Given the description of an element on the screen output the (x, y) to click on. 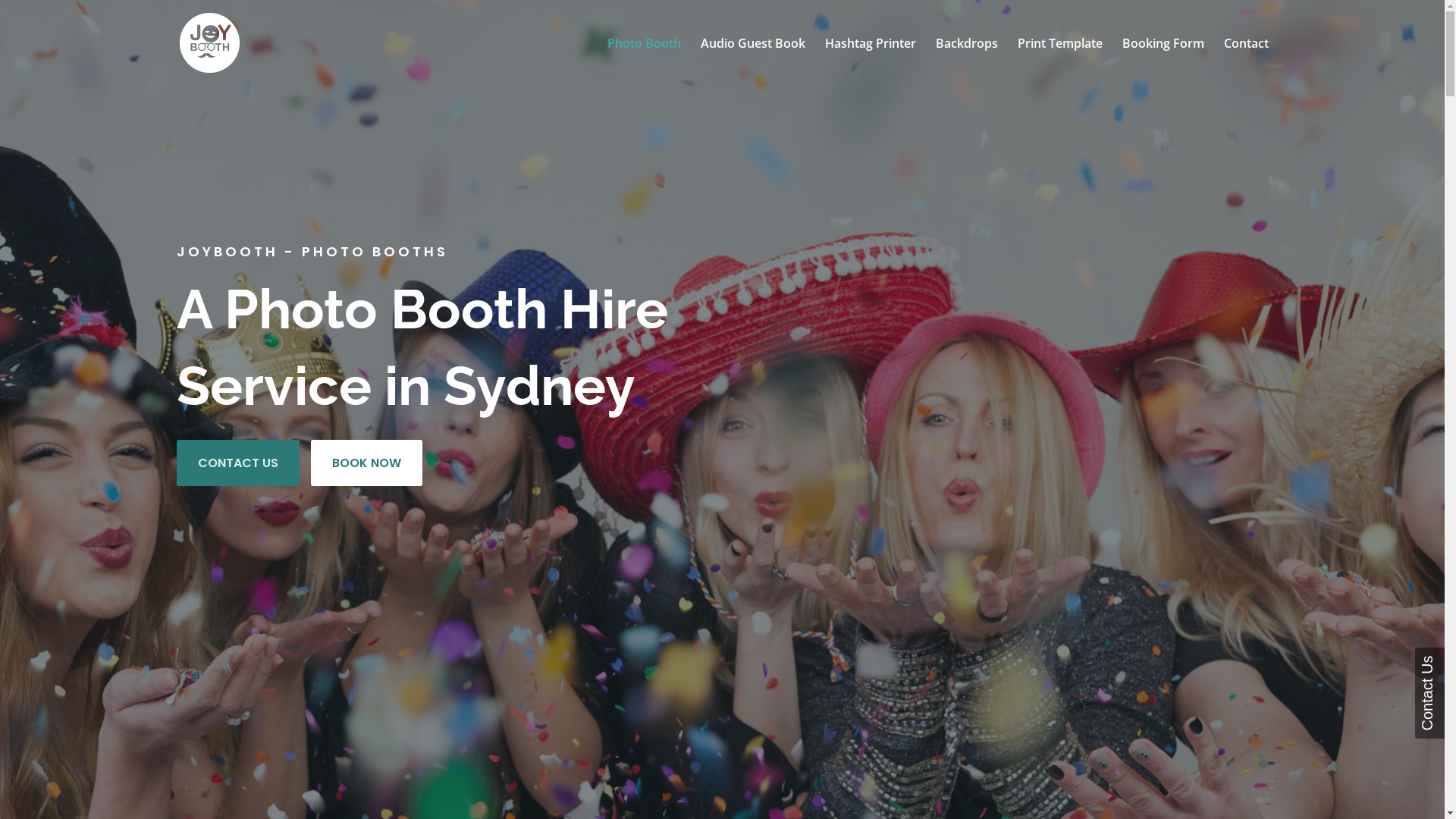
Booking Form Element type: text (1163, 61)
Contact Element type: text (1245, 61)
Print Template Element type: text (1059, 61)
CONTACT US Element type: text (236, 462)
Hashtag Printer Element type: text (870, 61)
Photo Booth Element type: text (643, 61)
Audio Guest Book Element type: text (752, 61)
Backdrops Element type: text (966, 61)
BOOK NOW Element type: text (366, 462)
